Given the description of an element on the screen output the (x, y) to click on. 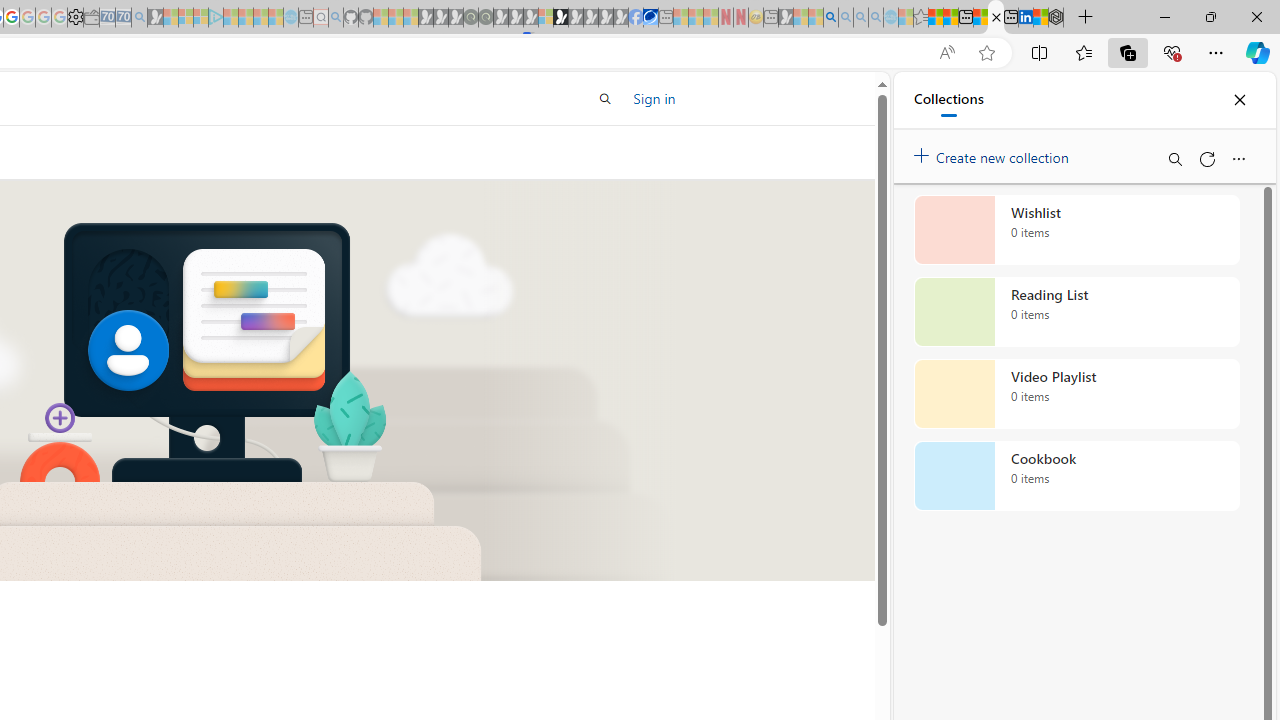
Aberdeen, Hong Kong SAR weather forecast | Microsoft Weather (950, 17)
